Given the description of an element on the screen output the (x, y) to click on. 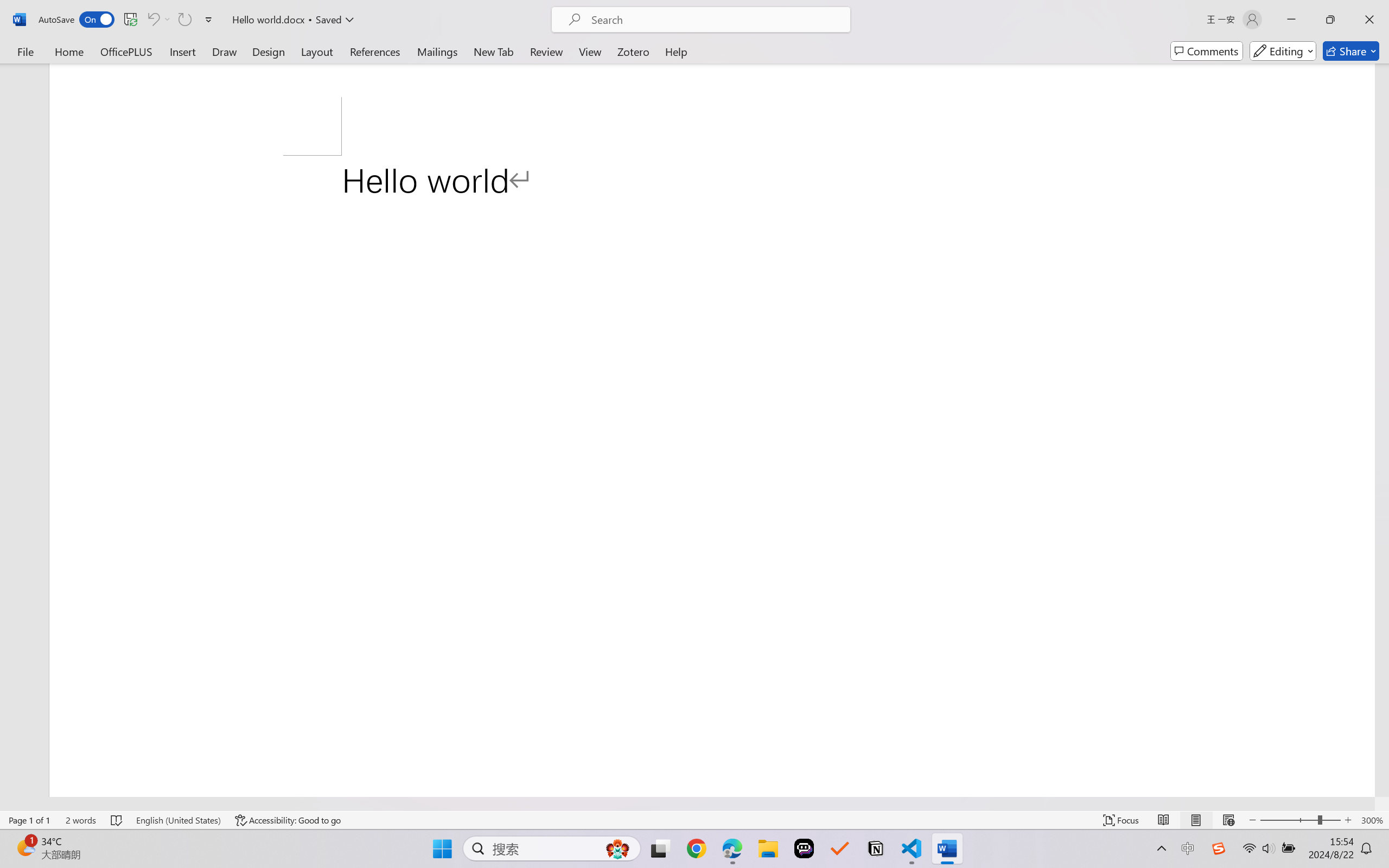
Class: NetUIScrollBar (687, 803)
Spelling and Grammar Check No Errors (117, 819)
Review (546, 51)
Zoom (1300, 819)
Class: MsoCommandBar (694, 819)
Read Mode (1163, 819)
File Tab (24, 51)
Print Layout (1196, 819)
Page 1 content (711, 475)
View (589, 51)
Draw (224, 51)
Layout (316, 51)
Mode (1283, 50)
